Given the description of an element on the screen output the (x, y) to click on. 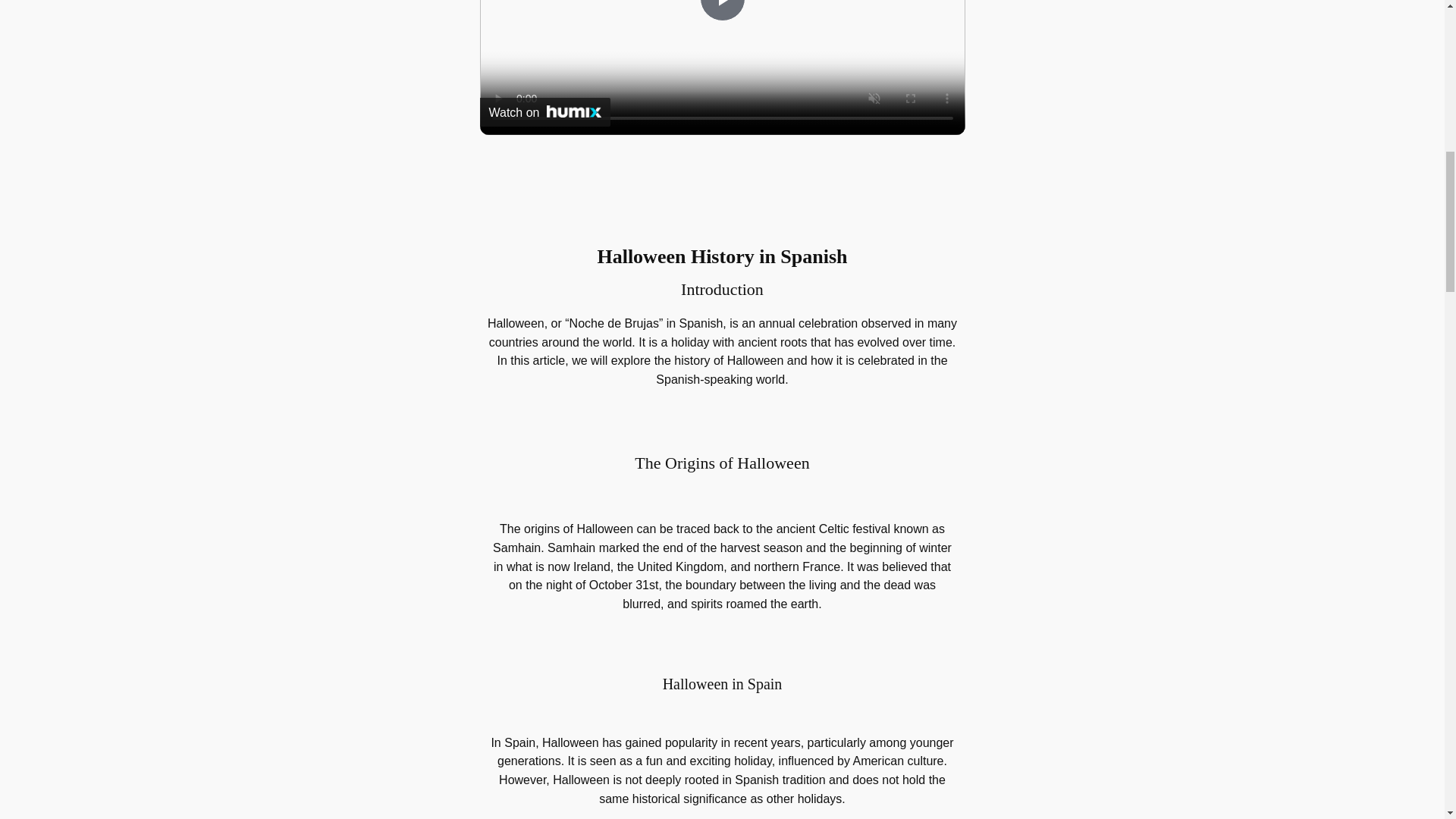
Play Video (721, 10)
Play Video (721, 10)
Watch on (544, 111)
